Given the description of an element on the screen output the (x, y) to click on. 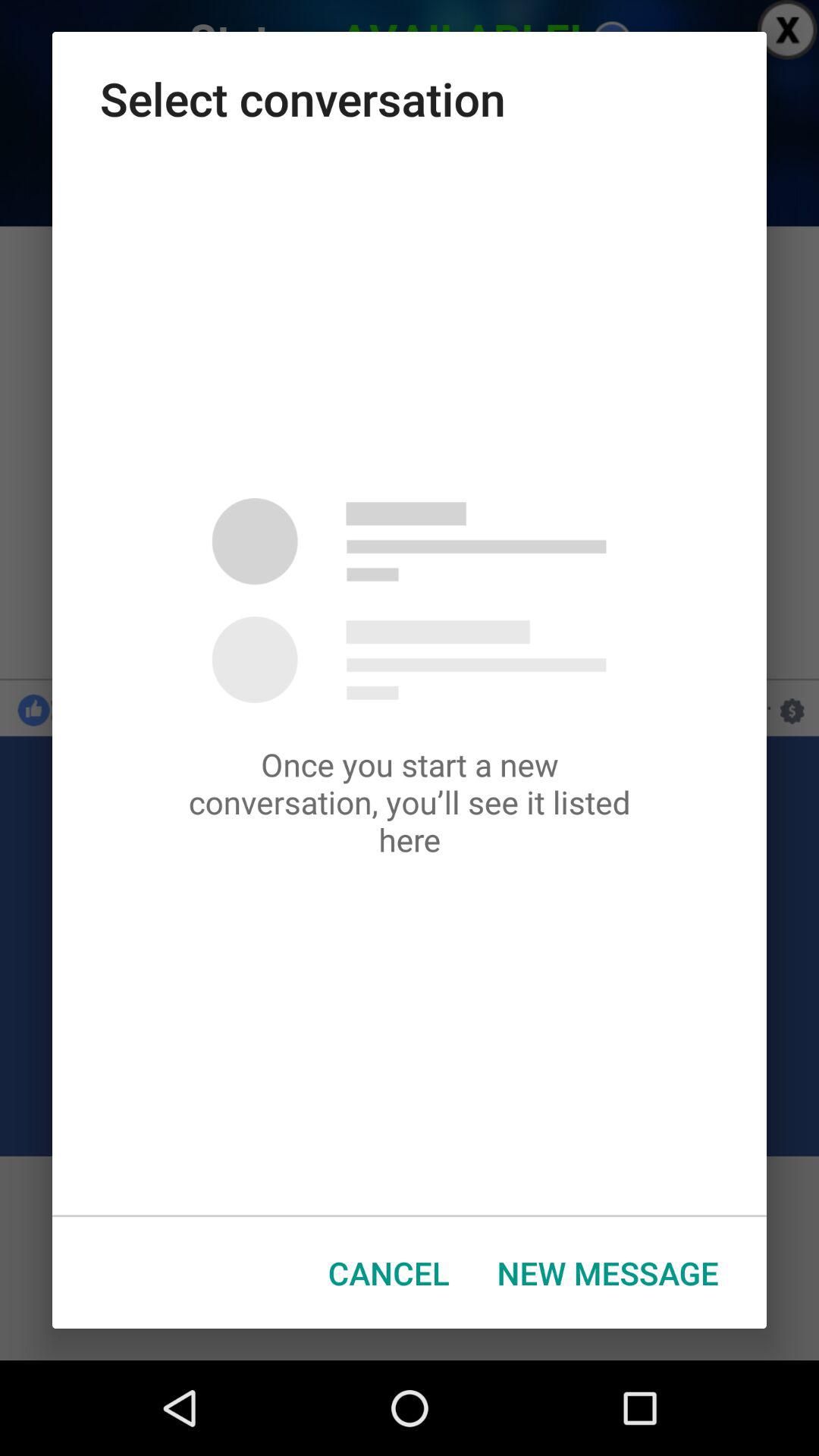
launch the button next to the cancel icon (607, 1272)
